Given the description of an element on the screen output the (x, y) to click on. 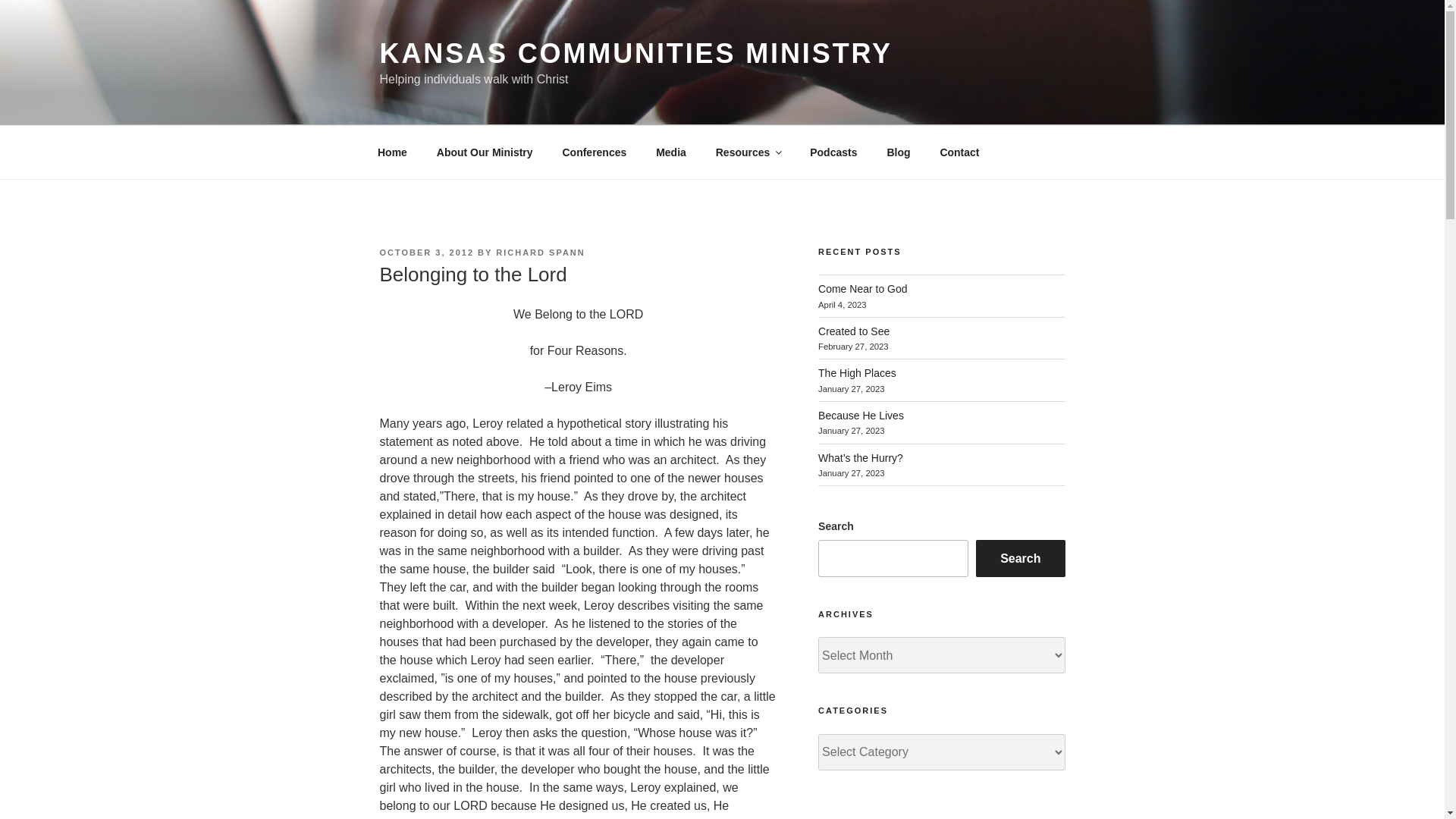
About Our Ministry (484, 151)
Because He Lives (861, 415)
The High Places (857, 372)
Created to See (853, 331)
RICHARD SPANN (540, 252)
Blog (898, 151)
Come Near to God (862, 288)
OCTOBER 3, 2012 (426, 252)
KANSAS COMMUNITIES MINISTRY (634, 52)
Podcasts (833, 151)
